Given the description of an element on the screen output the (x, y) to click on. 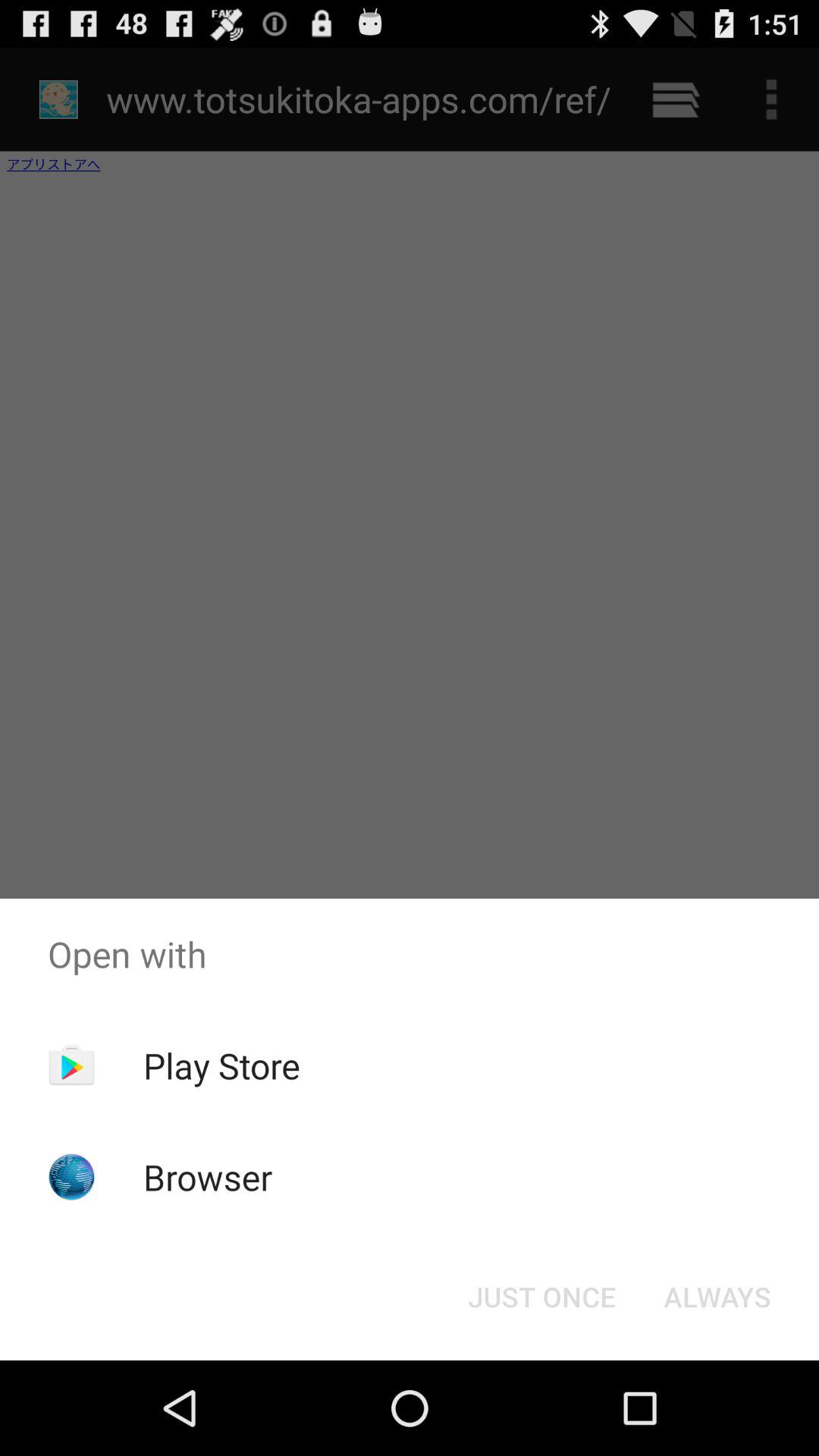
select the icon to the right of the just once icon (717, 1296)
